Given the description of an element on the screen output the (x, y) to click on. 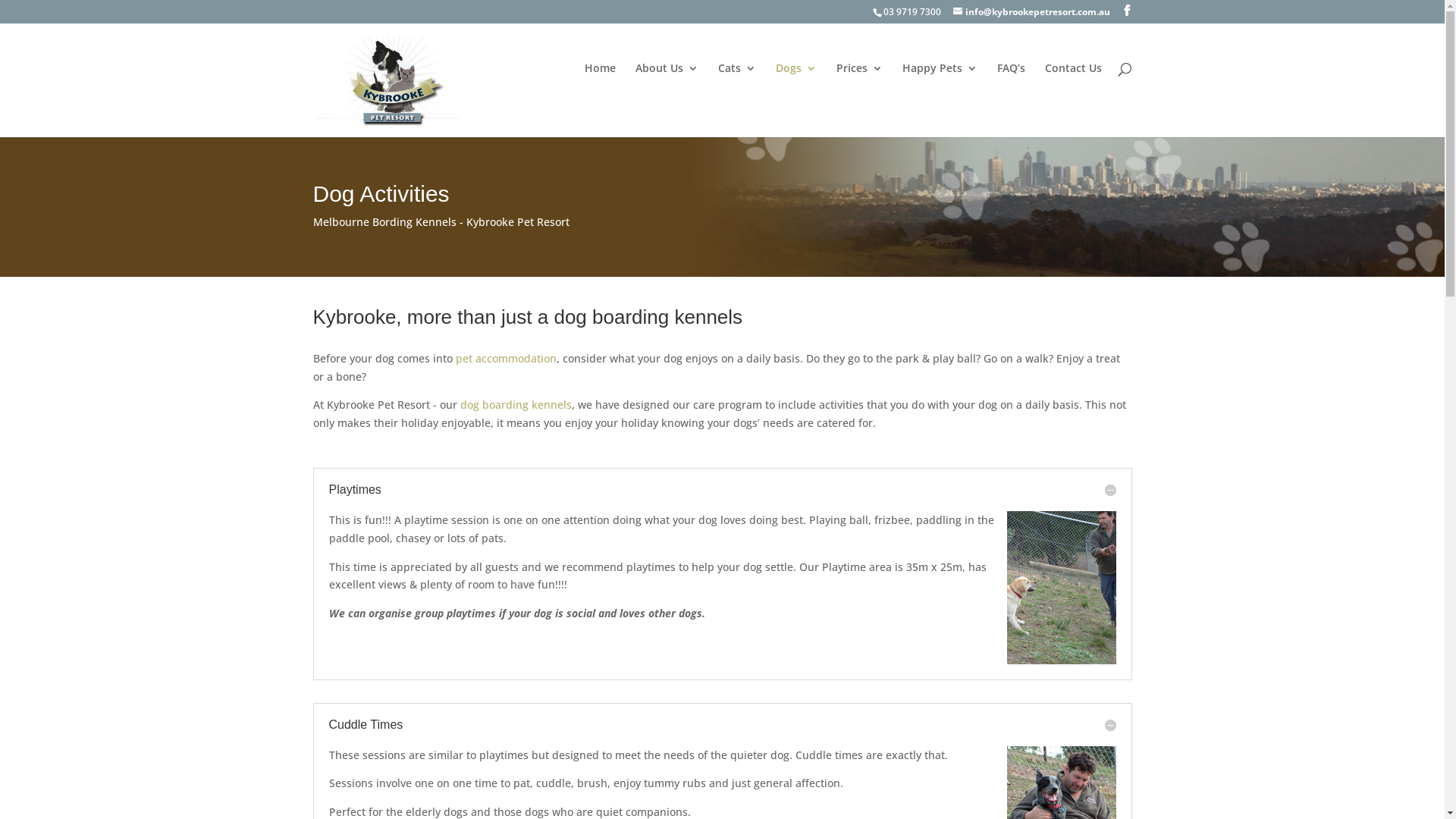
dog boarding kennels Element type: text (515, 404)
info@kybrookepetresort.com.au Element type: text (1030, 11)
pet accommodation Element type: text (505, 358)
Dogs Element type: text (795, 87)
About Us Element type: text (666, 87)
Contact Us Element type: text (1072, 87)
Cats Element type: text (736, 87)
Happy Pets Element type: text (939, 87)
Home Element type: text (599, 87)
Prices Element type: text (858, 87)
